Given the description of an element on the screen output the (x, y) to click on. 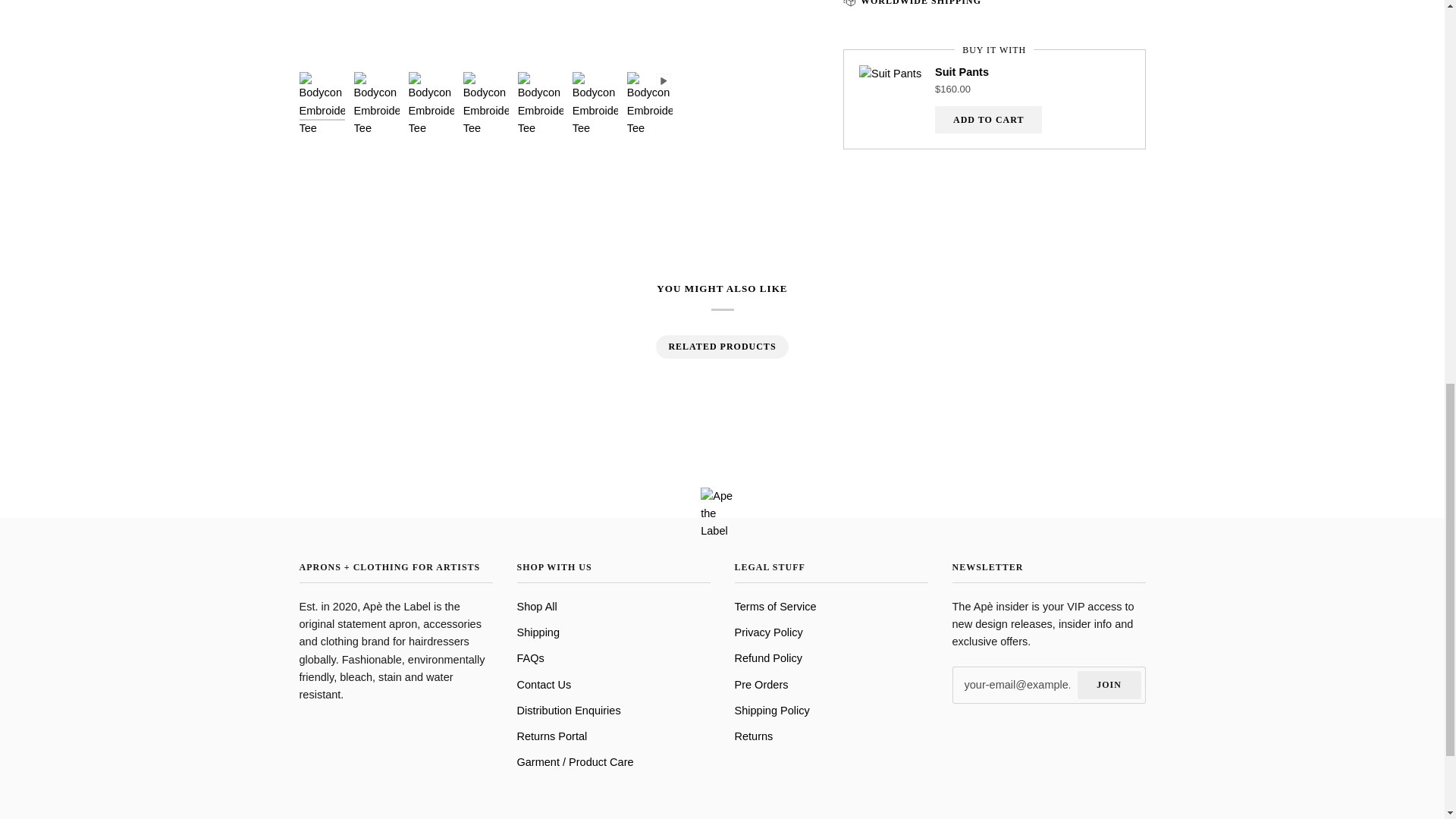
RELATED PRODUCTS (721, 346)
